Given the description of an element on the screen output the (x, y) to click on. 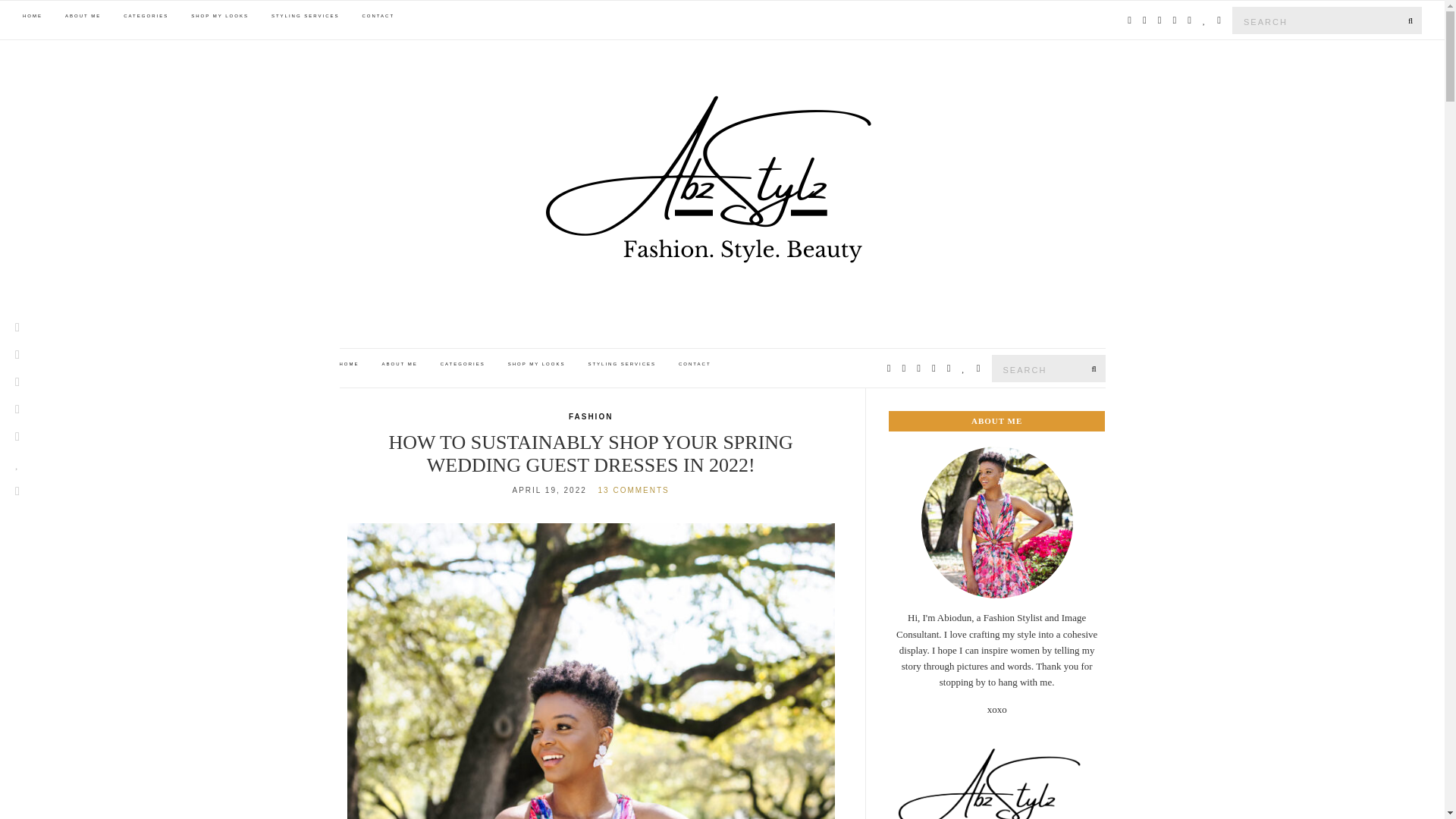
HOME (32, 16)
CATEGORIES (145, 16)
SHOP MY LOOKS (219, 16)
STYLING SERVICES (304, 16)
CONTACT (694, 364)
ABOUT ME (399, 364)
SHOP MY LOOKS (537, 364)
CATEGORIES (462, 364)
ABOUT ME (82, 16)
HOME (349, 364)
CONTACT (378, 16)
STYLING SERVICES (622, 364)
